Given the description of an element on the screen output the (x, y) to click on. 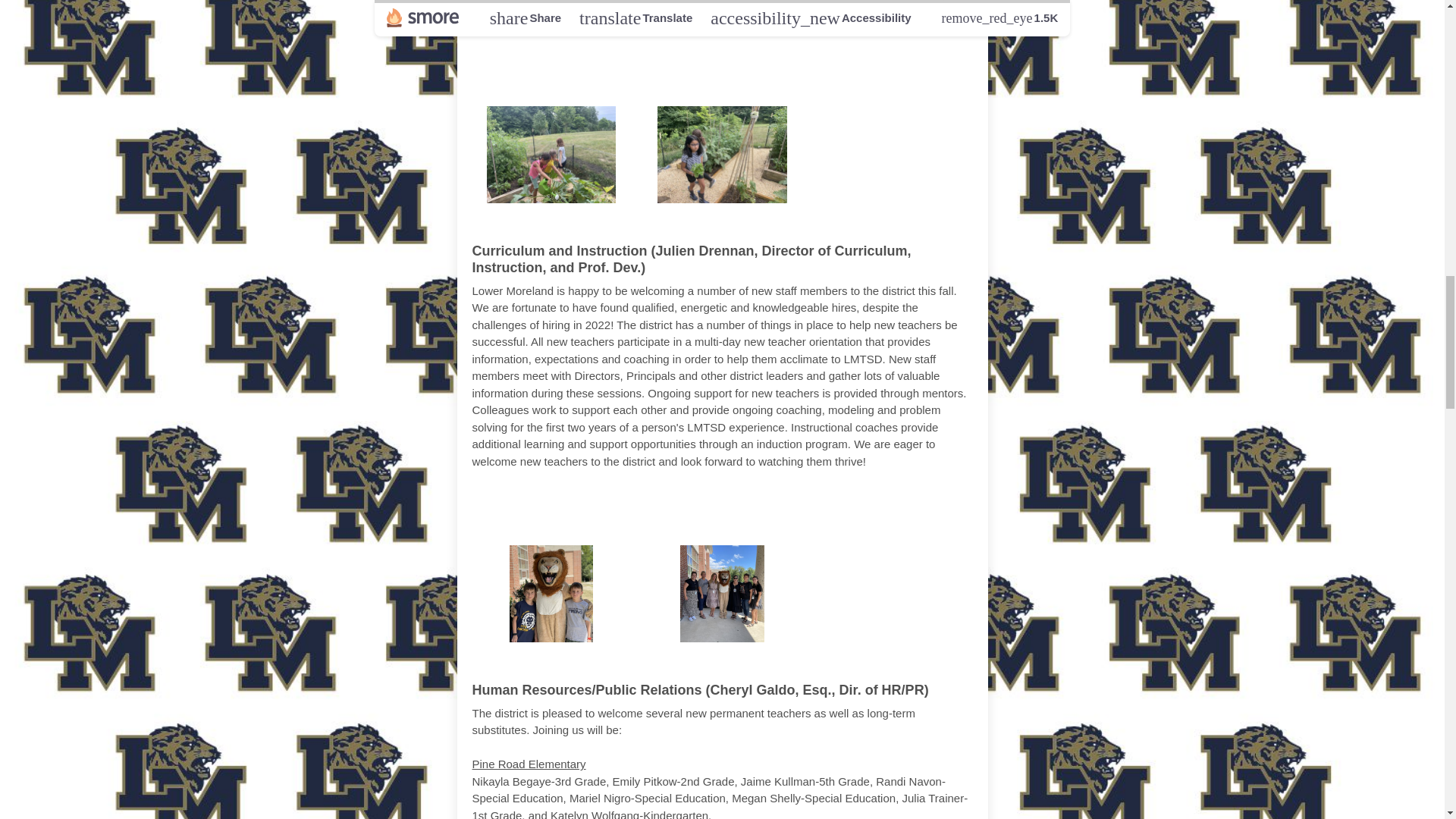
Road (581, 63)
Pine (514, 503)
Garden (900, 63)
Road (566, 503)
Community (800, 63)
Students (912, 503)
Elementary (654, 503)
Elementary's (675, 63)
Welcomes (767, 503)
New (846, 503)
Pine (528, 63)
